Given the description of an element on the screen output the (x, y) to click on. 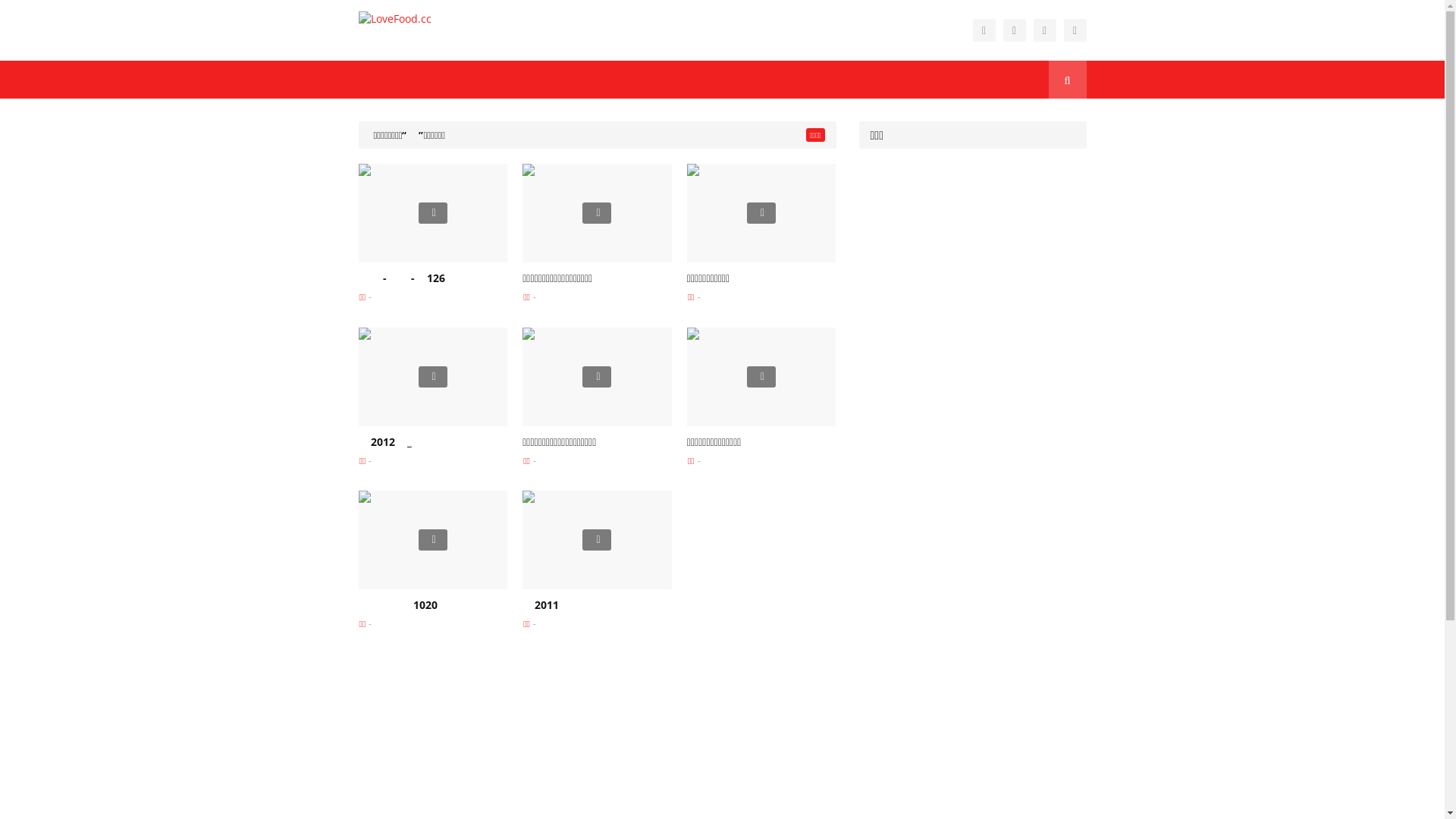
facebook Element type: hover (983, 29)
twitter Element type: hover (1043, 29)
Advertisement Element type: hover (971, 413)
instagram Element type: hover (1013, 29)
pinterest Element type: hover (1074, 29)
